Given the description of an element on the screen output the (x, y) to click on. 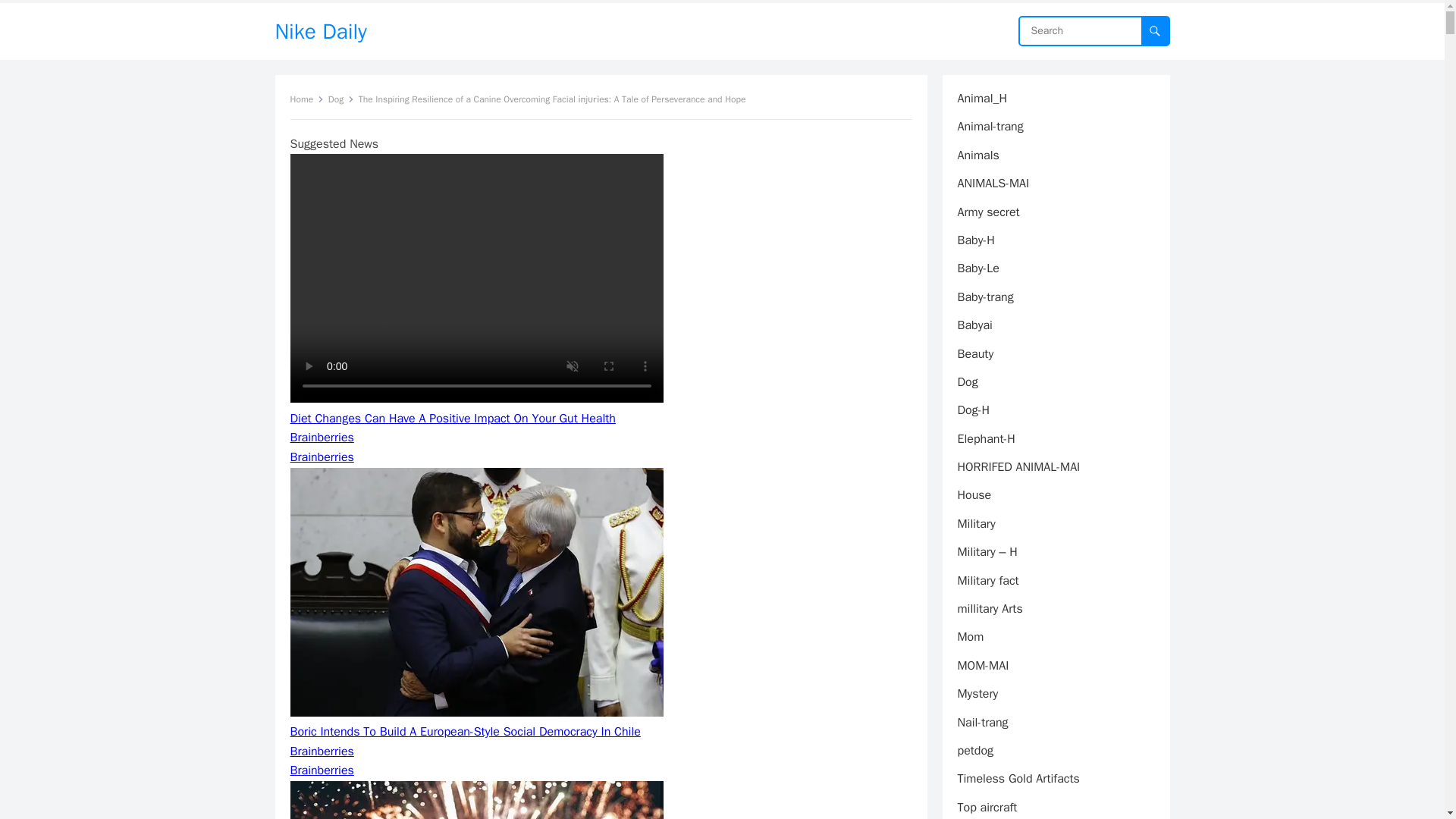
Baby-H (975, 240)
Animals (977, 155)
Baby-Le (977, 268)
HORRIFED ANIMAL-MAI (1018, 467)
Nike Daily (320, 31)
Military (975, 523)
Army secret (987, 212)
Beauty (974, 353)
Animal-trang (989, 126)
Dog-H (973, 409)
Elephant-H (985, 438)
Military fact (986, 580)
ANIMALS-MAI (992, 183)
Dog (341, 99)
Home (306, 99)
